Given the description of an element on the screen output the (x, y) to click on. 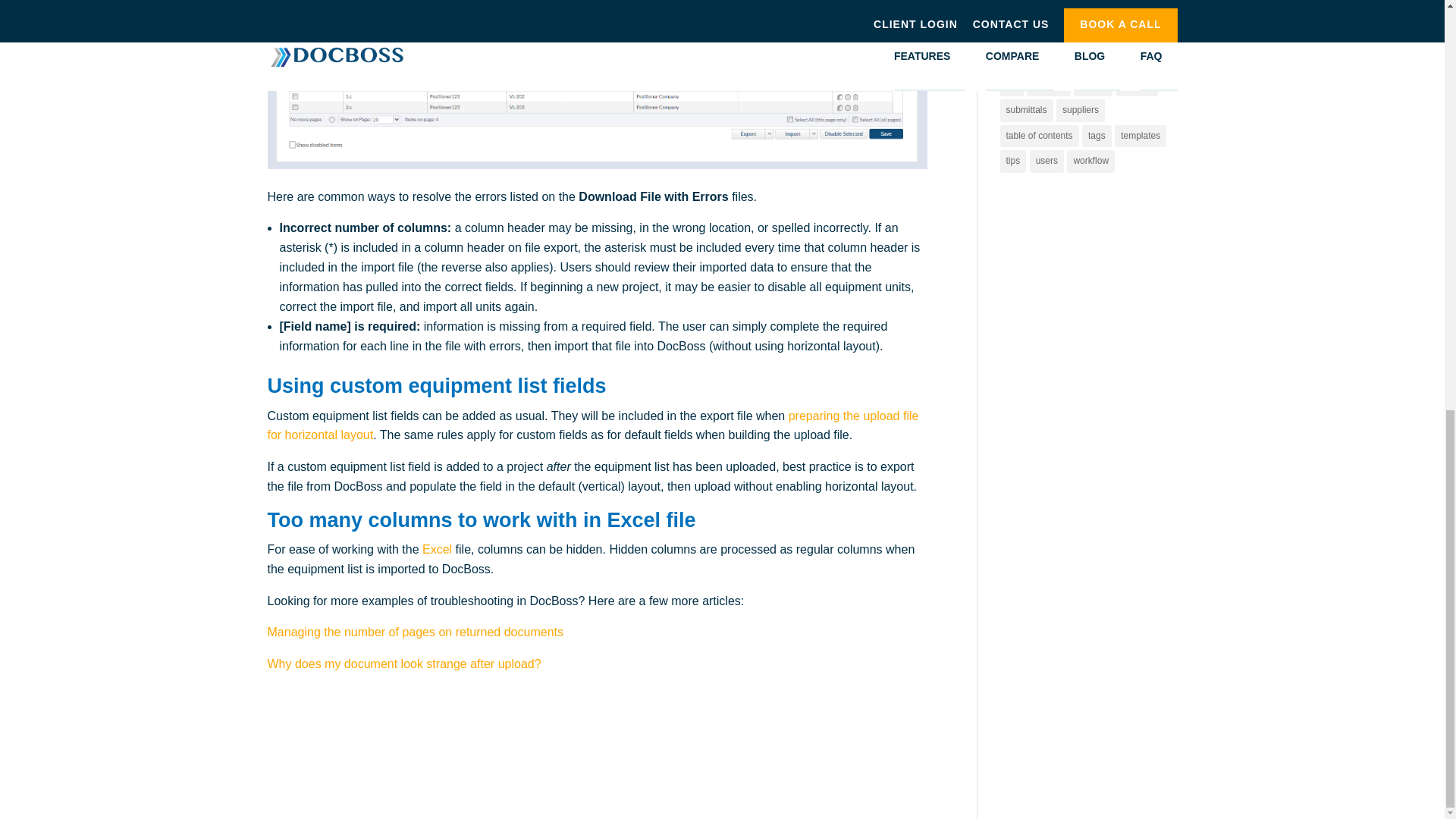
Why does my document look strange after upload? (403, 663)
Managing the number of pages on returned documents (414, 631)
preparing the upload file for horizontal layout (592, 425)
Excel (436, 549)
